Given the description of an element on the screen output the (x, y) to click on. 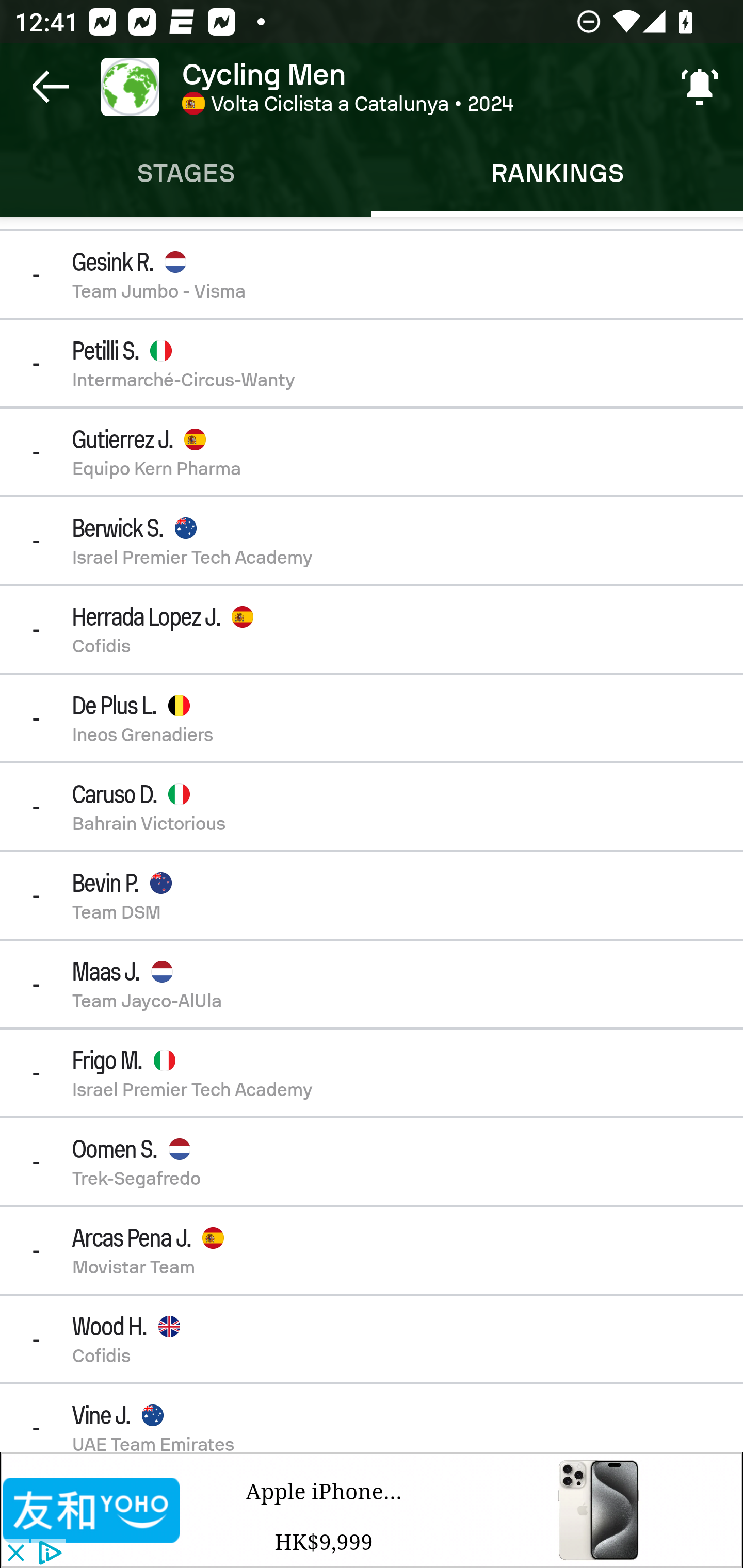
Navigate up (50, 86)
Stages STAGES (185, 173)
- Gesink R. Team Jumbo - Visma (371, 274)
- Petilli S. Intermarché-Circus-Wanty (371, 362)
- Gutierrez J. Equipo Kern Pharma (371, 452)
- Berwick S. Israel Premier Tech Academy (371, 540)
- Herrada Lopez J. Cofidis (371, 629)
- De Plus L. Ineos Grenadiers (371, 718)
- Caruso D. Bahrain Victorious (371, 806)
- Bevin P. Team DSM (371, 895)
- Maas J. Team Jayco-AlUla (371, 983)
- Frigo M. Israel Premier Tech Academy (371, 1073)
- Oomen S. Trek-Segafredo (371, 1160)
- Arcas Pena J. Movistar Team (371, 1250)
- Wood H. Cofidis (371, 1338)
- Vine J. UAE Team Emirates (371, 1417)
   (91, 1509)
close_button (14, 1553)
privacy_small (47, 1553)
